Given the description of an element on the screen output the (x, y) to click on. 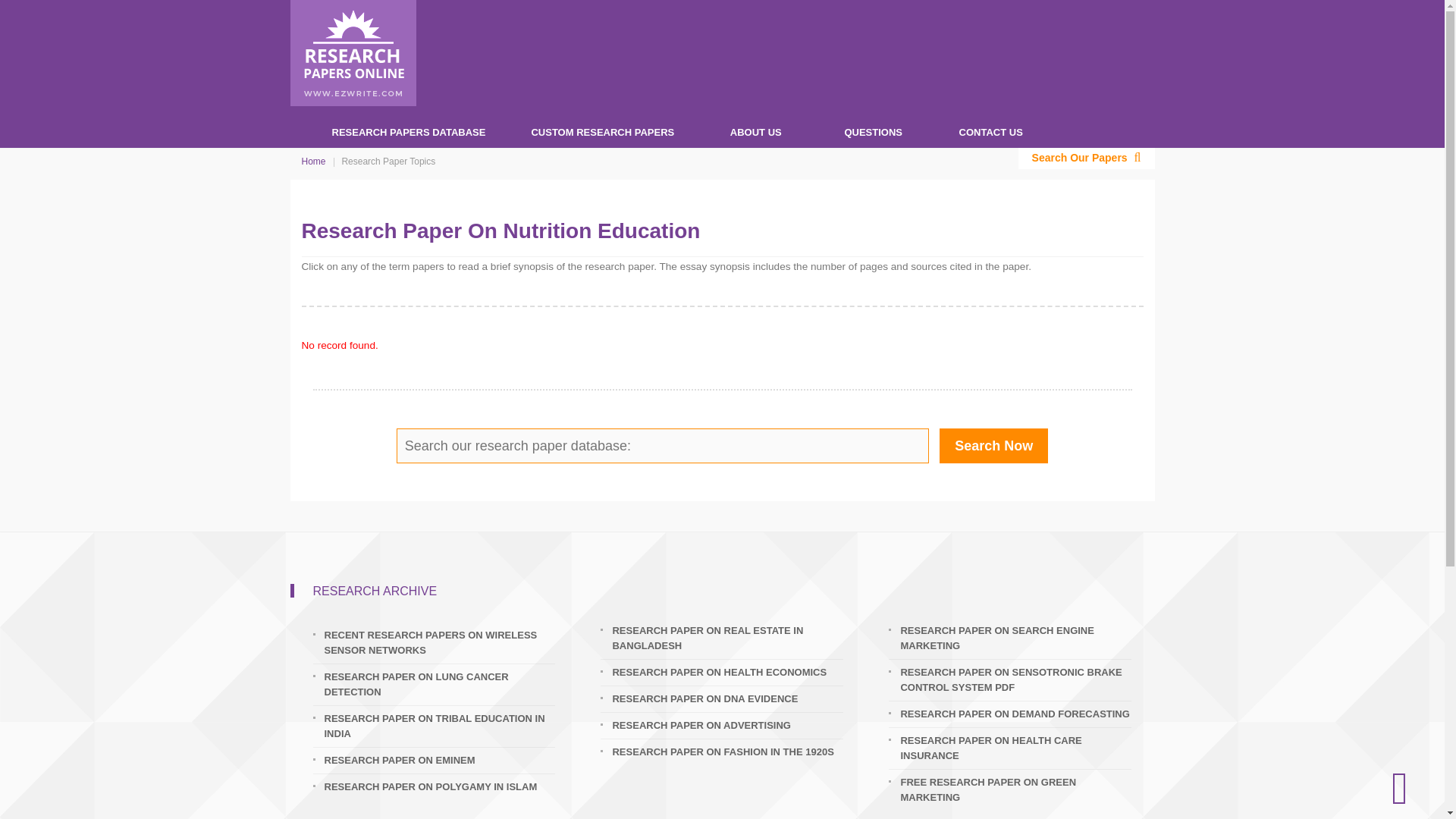
RECENT RESEARCH PAPERS ON WIRELESS SENSOR NETWORKS (440, 643)
FREE RESEARCH PAPER ON GREEN MARKETING (1015, 789)
RESEARCH PAPER ON SENSOTRONIC BRAKE CONTROL SYSTEM PDF (1015, 680)
research paper on lung cancer detection (440, 684)
research paper on health economics (727, 672)
RESEARCH PAPER ON POLYGAMY IN ISLAM (440, 786)
RESEARCH PAPER ON DEMAND FORECASTING (1015, 713)
CUSTOM RESEARCH PAPERS (602, 127)
About Research Papers Online (755, 127)
research paper on tribal education in india (440, 726)
RESEARCH PAPERS DATABASE (408, 127)
Research Papers Subject List (408, 127)
Contacting Us (990, 127)
QUESTIONS (872, 127)
research paper on real estate in bangladesh (727, 638)
